Given the description of an element on the screen output the (x, y) to click on. 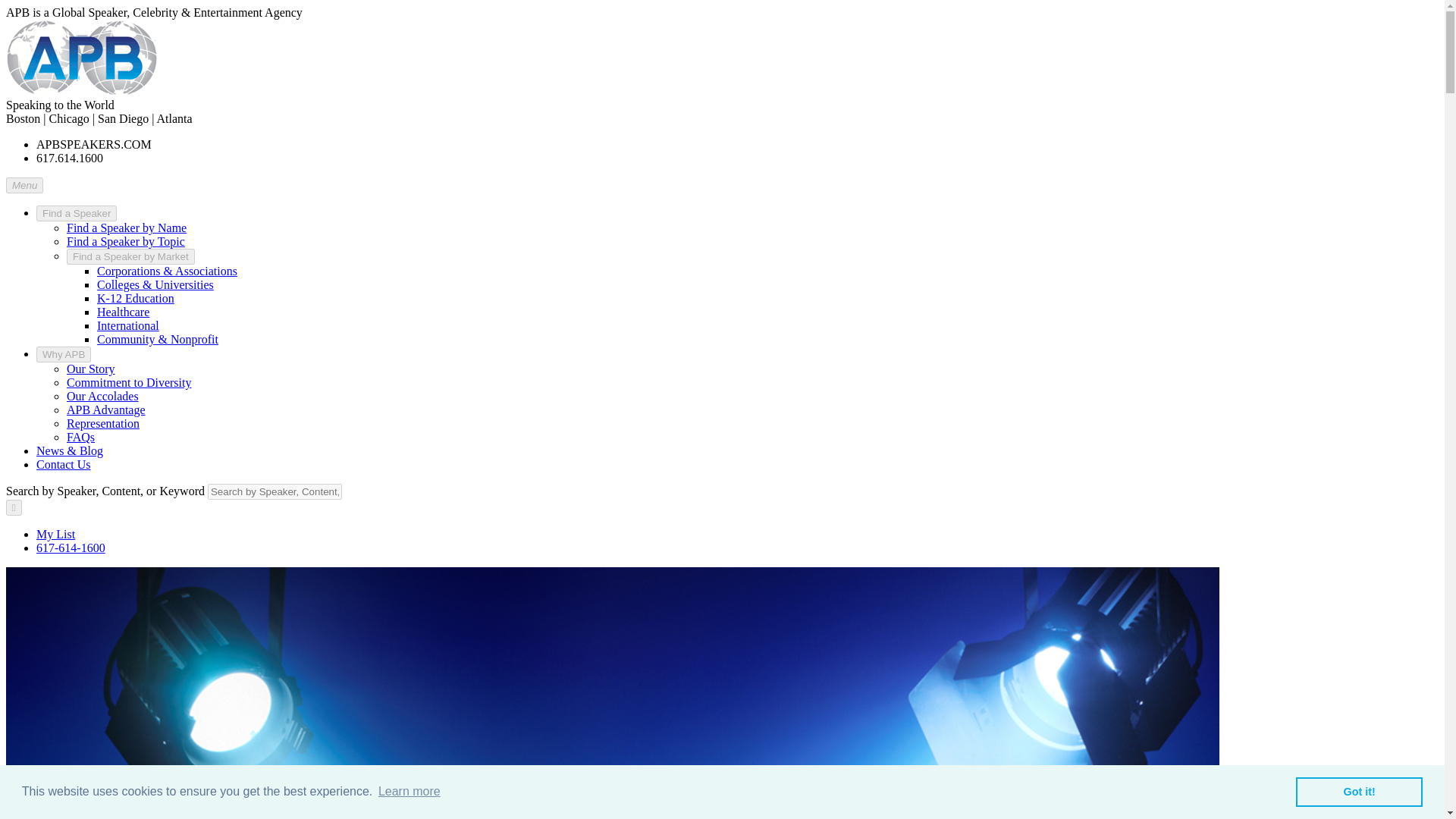
Find a Speaker by Topic (125, 241)
Our Story (90, 368)
International (127, 325)
Why APB (63, 354)
Learn more (408, 791)
Commitment to Diversity (128, 382)
617-614-1600 (70, 547)
Got it! (1358, 791)
Menu (24, 185)
Our Accolades (102, 395)
FAQs (80, 436)
Find a Speaker by Market (130, 256)
My List (55, 533)
Healthcare (123, 311)
K-12 Education (135, 297)
